Given the description of an element on the screen output the (x, y) to click on. 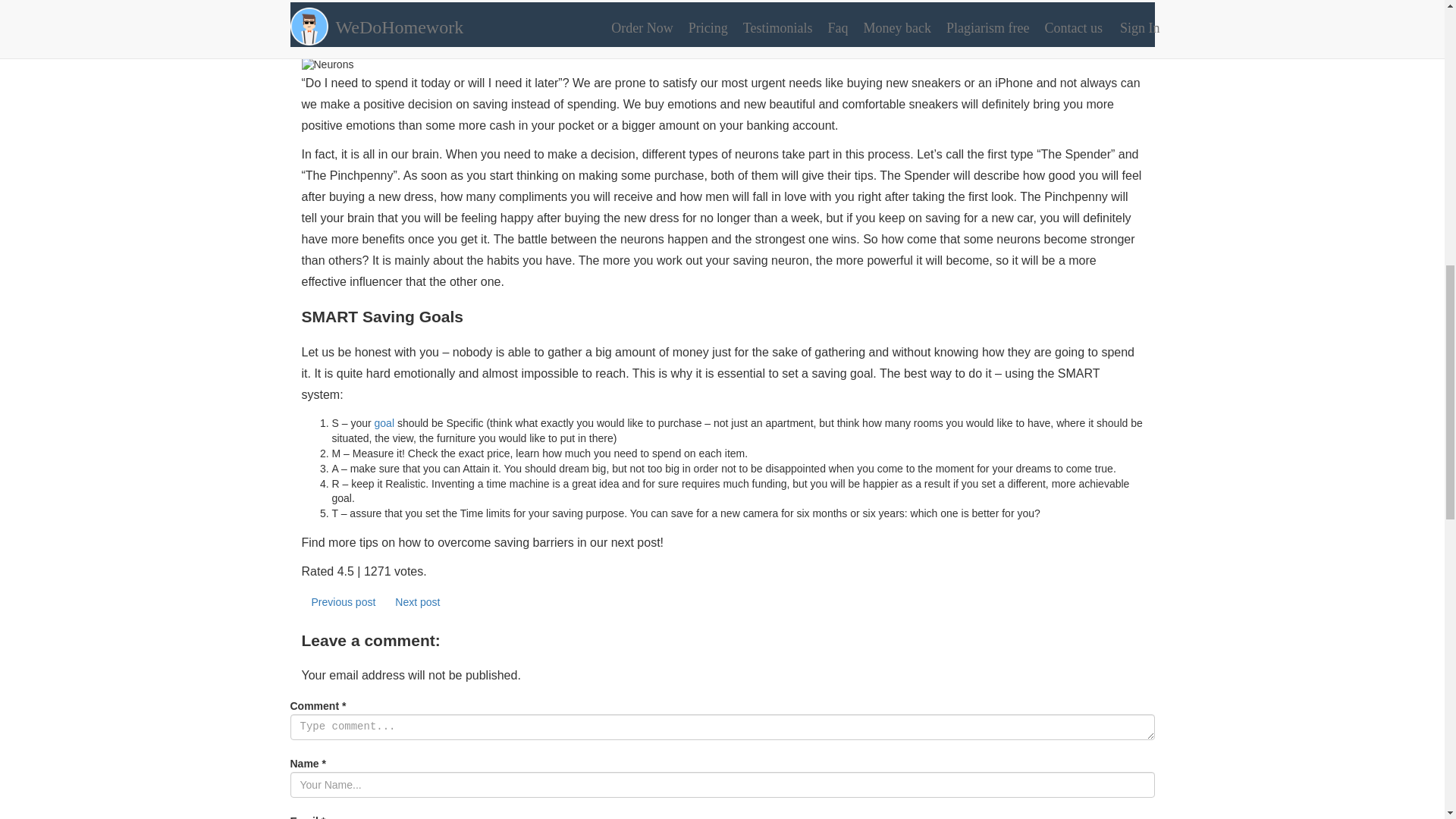
Next post (417, 602)
Previous post (343, 602)
goal (384, 422)
Neurons (721, 64)
